Given the description of an element on the screen output the (x, y) to click on. 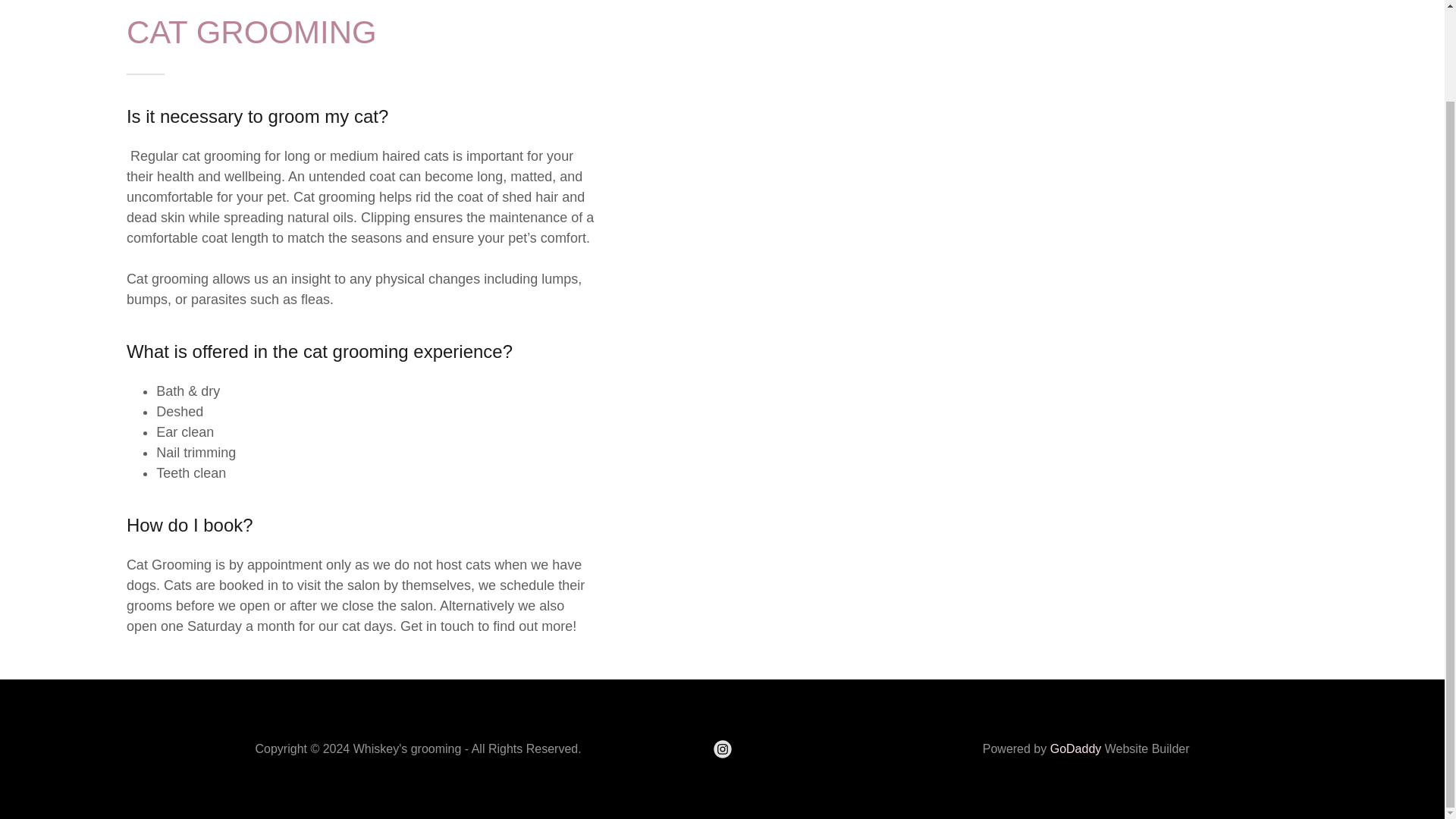
GoDaddy (1075, 748)
